Given the description of an element on the screen output the (x, y) to click on. 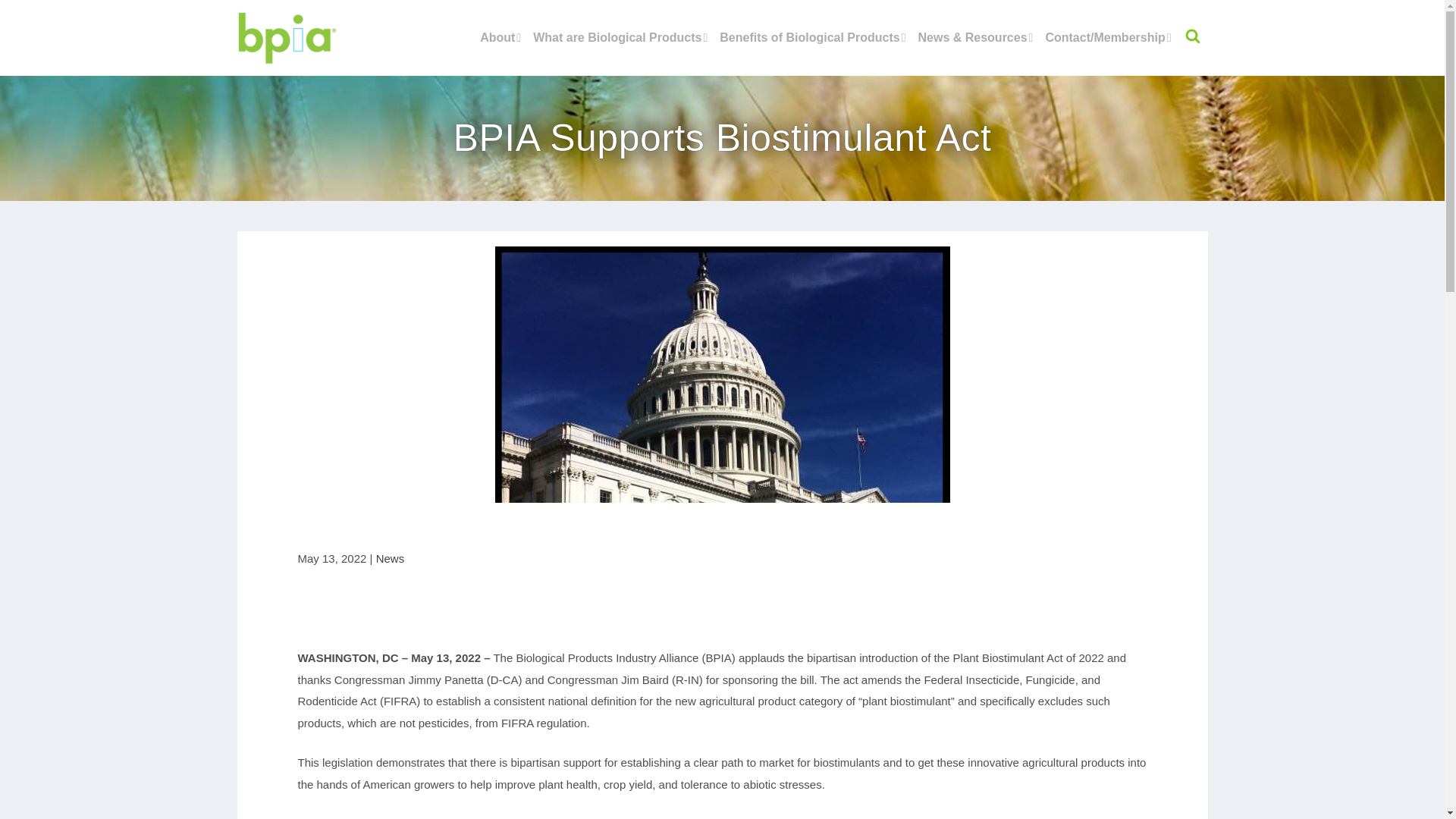
Benefits of Biological Products (812, 51)
What are Biological Products (619, 51)
